Given the description of an element on the screen output the (x, y) to click on. 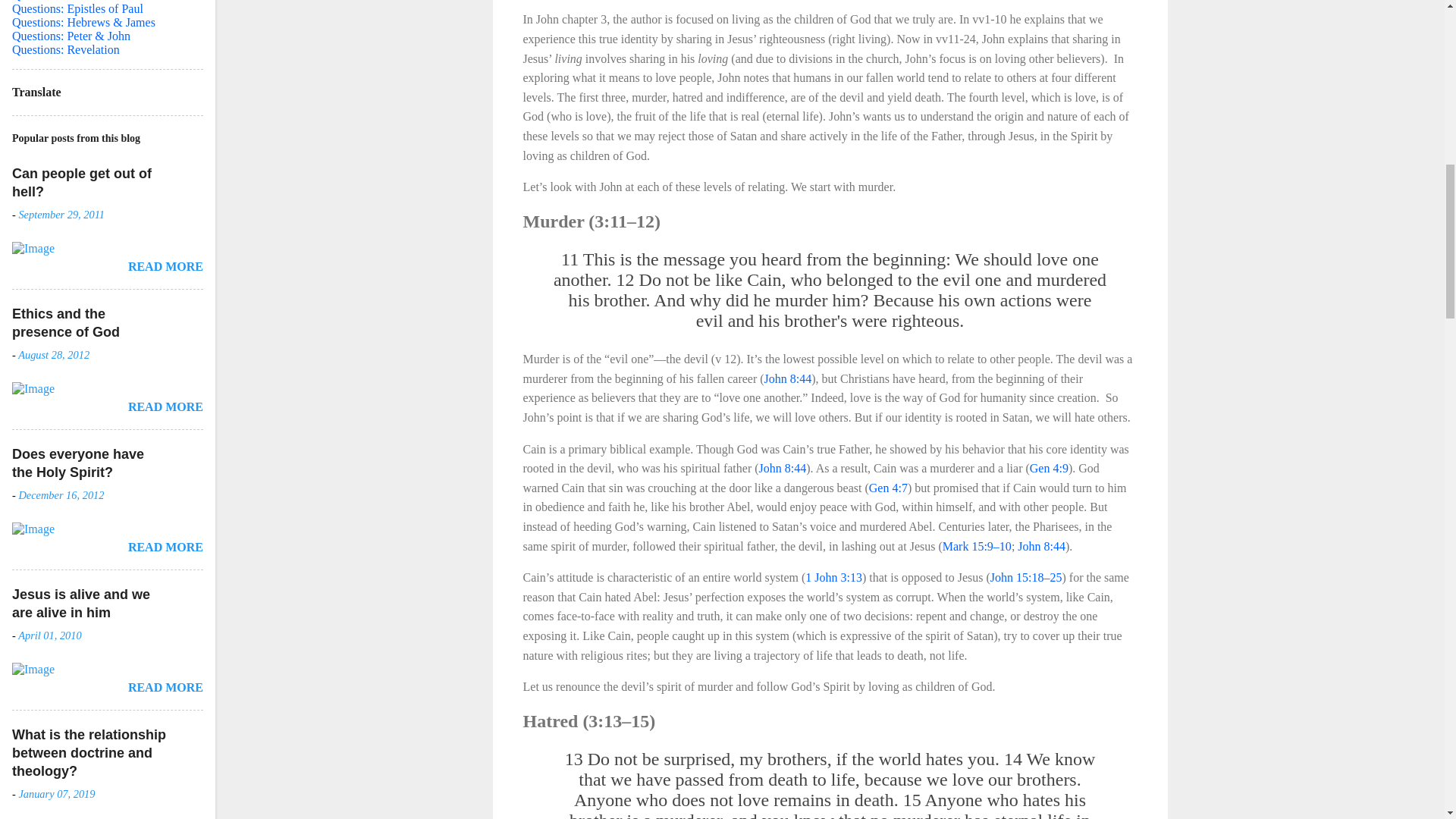
John 8:44 (782, 468)
John 8:44 (1041, 545)
1 John 3:13 (833, 576)
Gen 4:9 (1048, 468)
permanent link (60, 214)
John 8:44 (788, 378)
Gen 4:7 (888, 487)
